Given the description of an element on the screen output the (x, y) to click on. 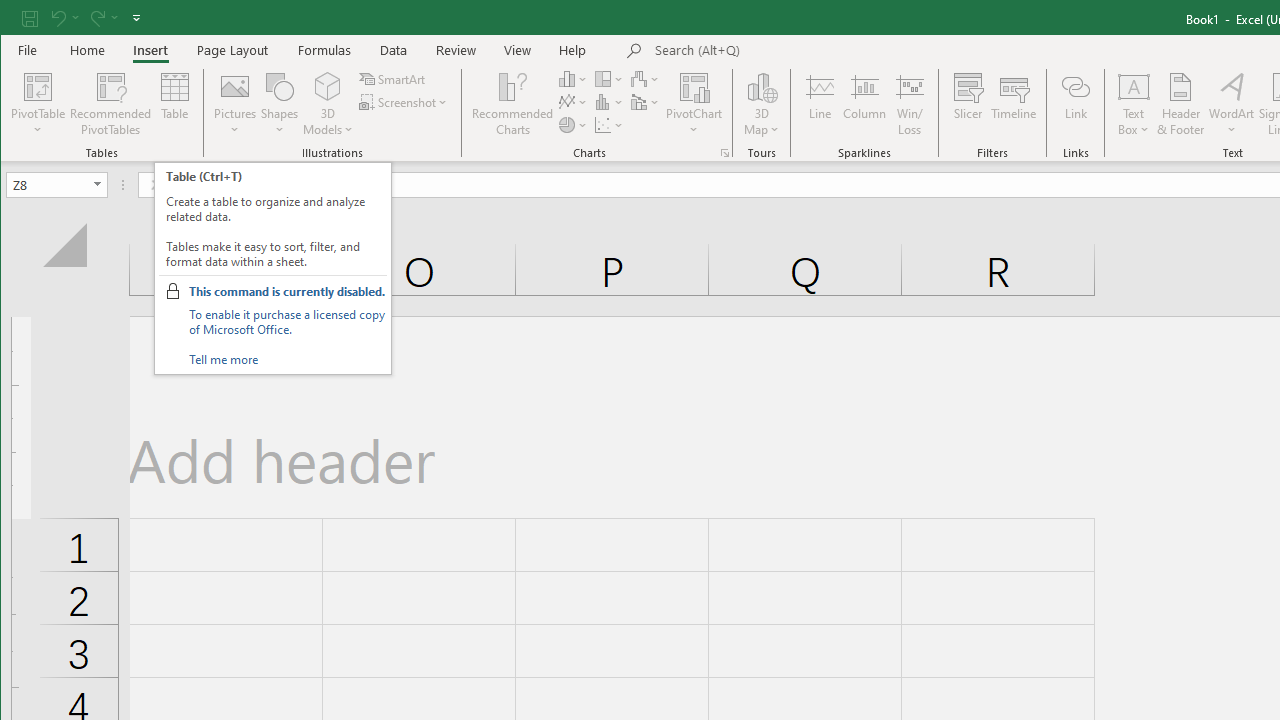
Win/Loss (909, 104)
PivotChart (694, 104)
Shapes (279, 104)
Insert Hierarchy Chart (609, 78)
Microsoft search (794, 51)
3D Models (327, 86)
Line (819, 104)
